Given the description of an element on the screen output the (x, y) to click on. 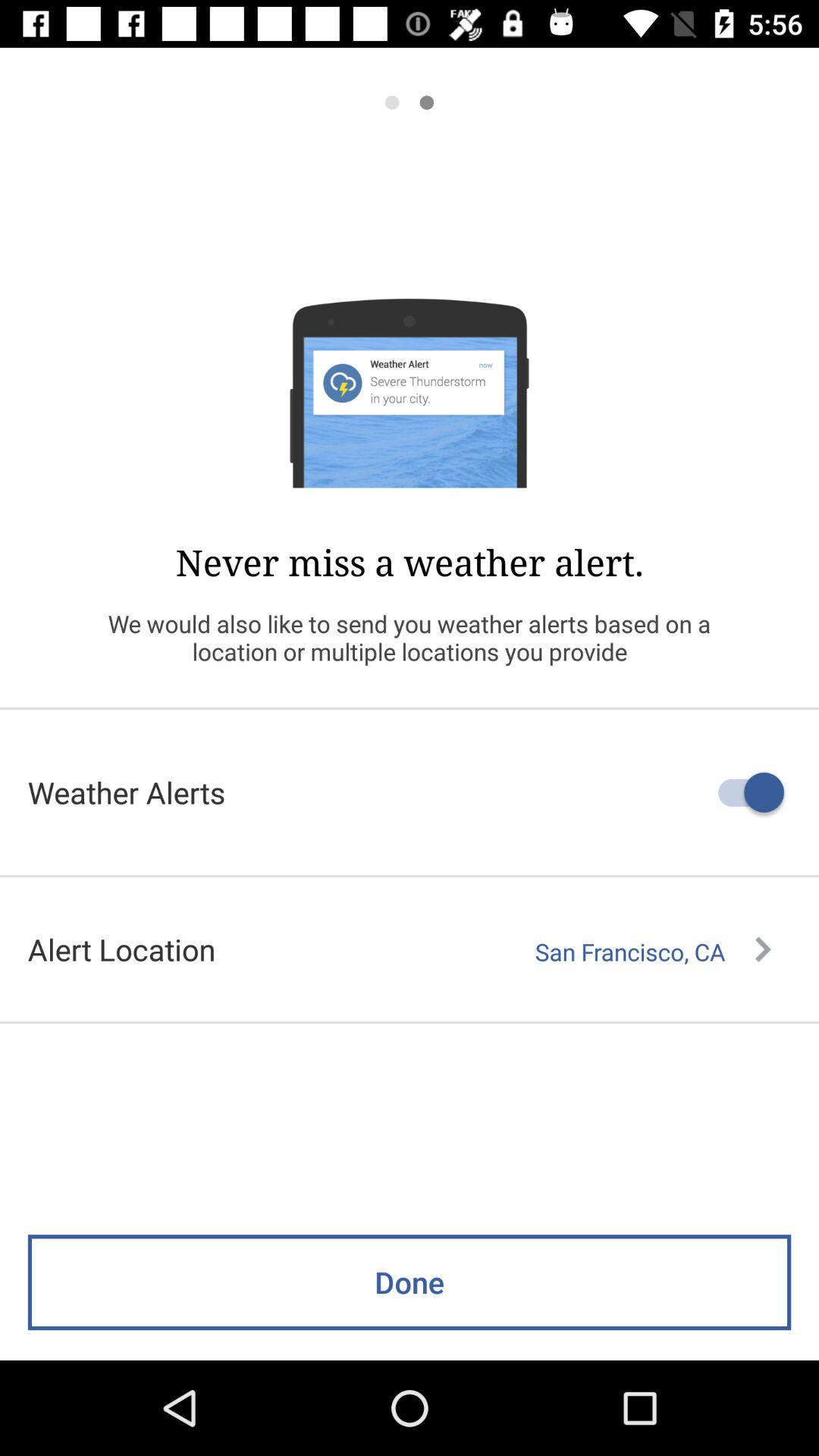
click item to the right of the alert location icon (653, 951)
